Given the description of an element on the screen output the (x, y) to click on. 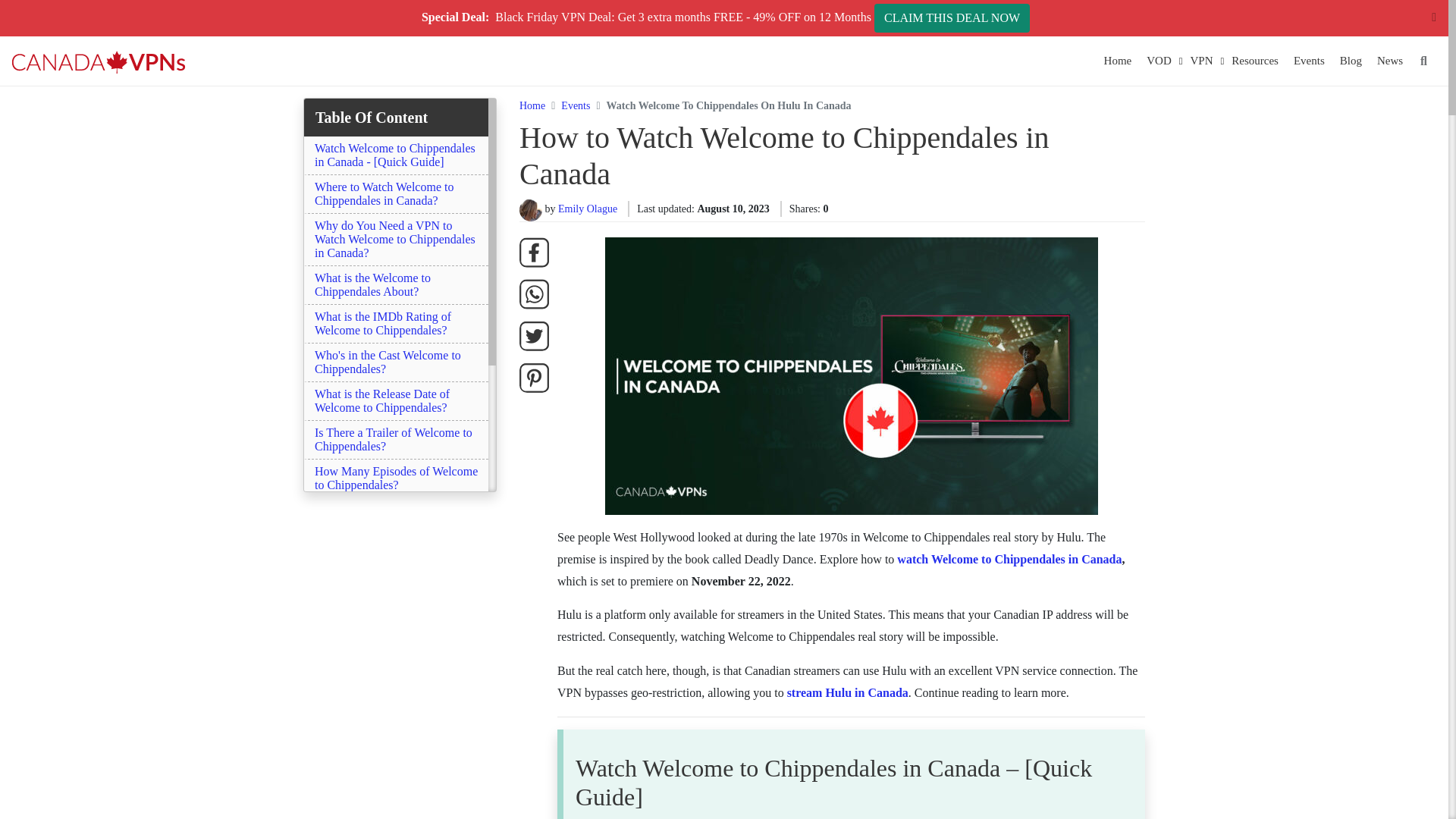
CanadaVPN (99, 60)
Home (1118, 60)
close (1433, 17)
VOD (1158, 60)
